Given the description of an element on the screen output the (x, y) to click on. 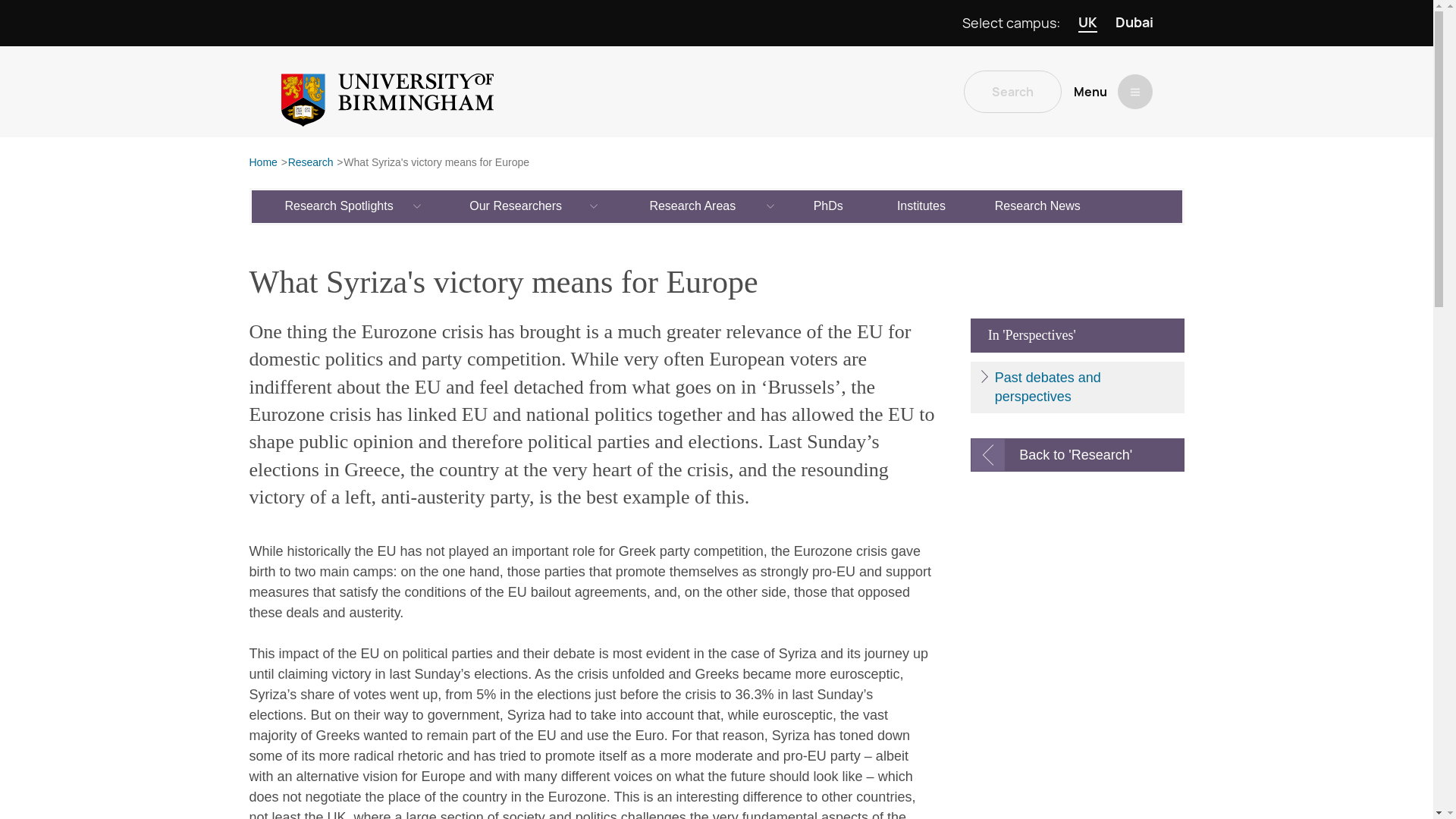
Research Areas (693, 205)
What Syriza's victory means for Europe (436, 163)
Home (262, 163)
UK (1087, 23)
Research (310, 163)
Research Spotlights (339, 205)
Dubai (1134, 23)
Search (1012, 91)
Our Researchers (516, 205)
